Given the description of an element on the screen output the (x, y) to click on. 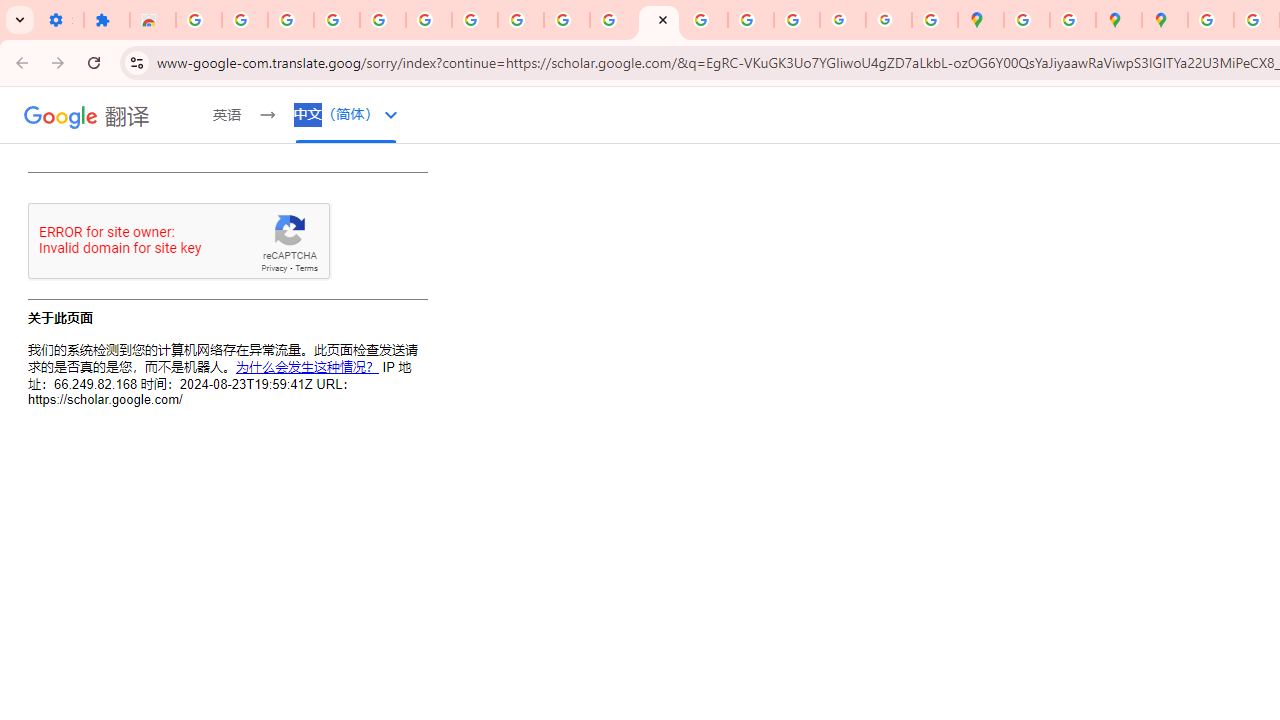
Reviews: Helix Fruit Jump Arcade Game (153, 20)
